Given the description of an element on the screen output the (x, y) to click on. 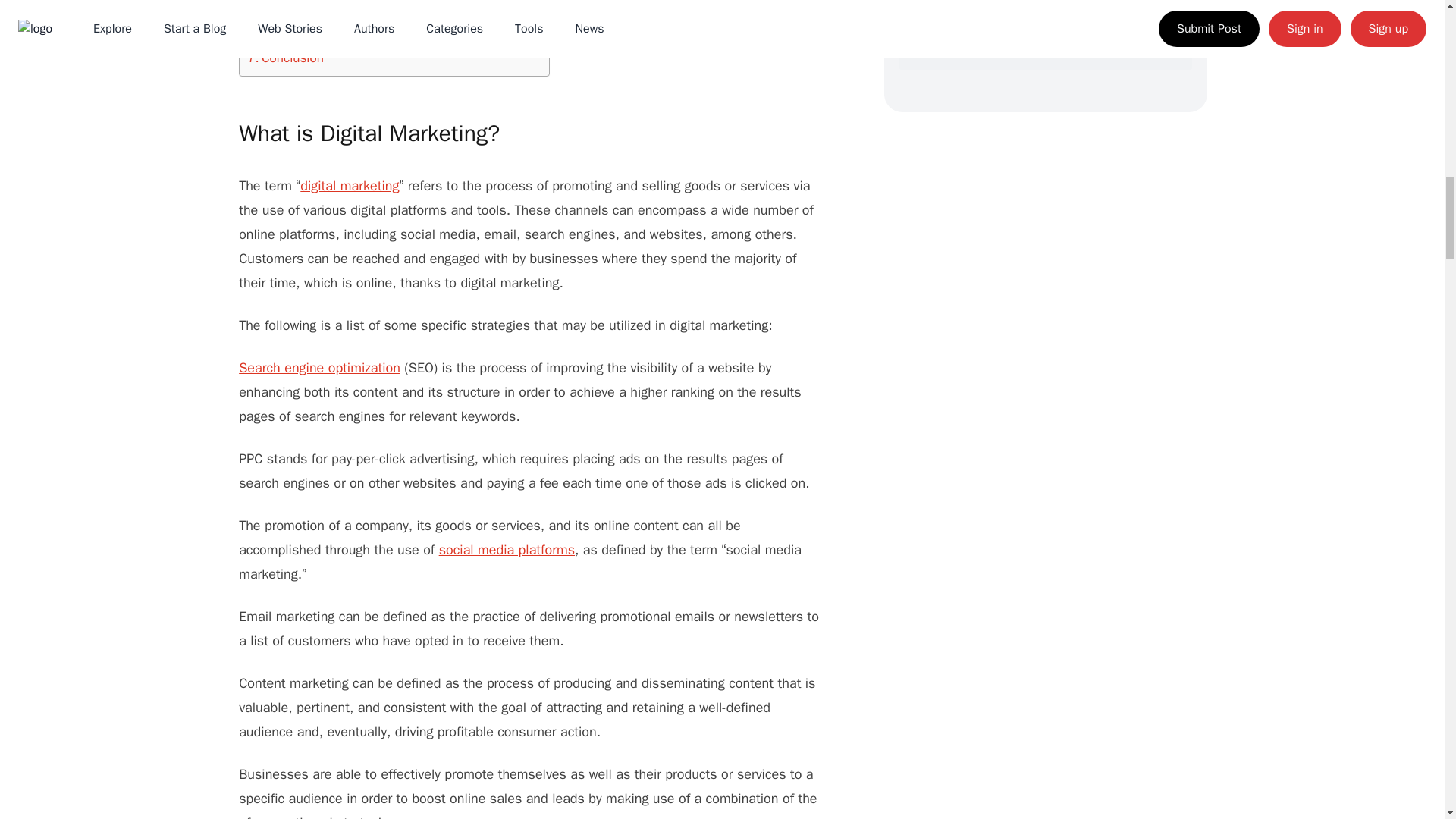
Cost to Digital Marketing Yourself (349, 36)
Conclusion (285, 57)
Search engine optimization (319, 367)
Cost to Outsource a Digital marketer (357, 15)
digital marketing (348, 185)
Cost to Hire In-house Digital Marketer (361, 2)
Cost to Digital Marketing Yourself (349, 36)
Cost to Outsource a Digital marketer (357, 15)
Conclusion (285, 57)
Cost to Hire In-house Digital Marketer (361, 2)
